Given the description of an element on the screen output the (x, y) to click on. 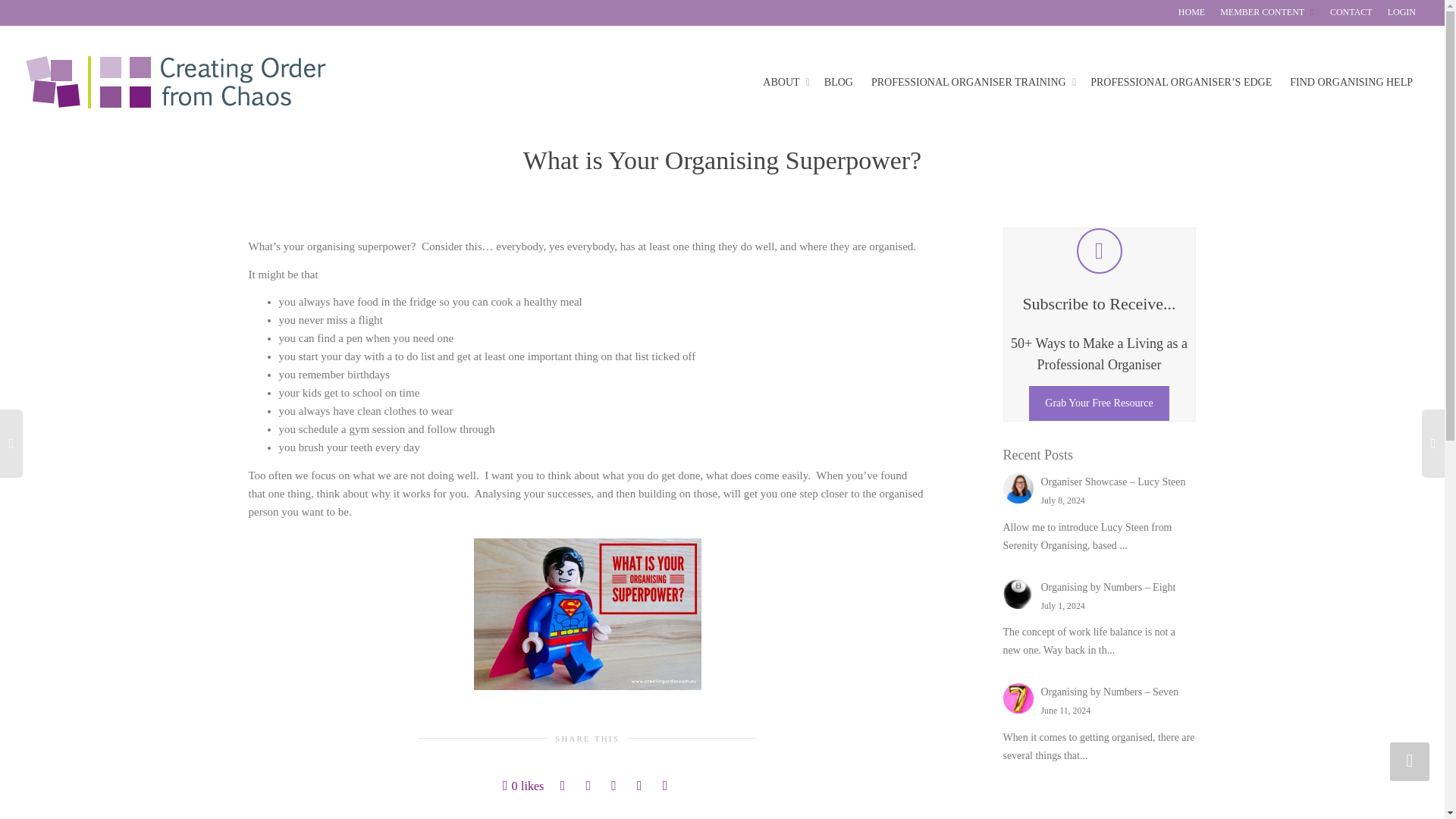
Home (1191, 12)
ABOUT (783, 82)
BLOG (838, 82)
Professional Organiser Training (970, 82)
Creating Order from Chaos (175, 81)
HOME (1191, 12)
PROFESSIONAL ORGANISER TRAINING (970, 82)
Login (1401, 12)
CONTACT (1350, 12)
Blog (838, 82)
LOGIN (1401, 12)
0 likes (522, 785)
MEMBER CONTENT (1268, 12)
Grab Your Free Resource (1099, 402)
About (783, 82)
